Given the description of an element on the screen output the (x, y) to click on. 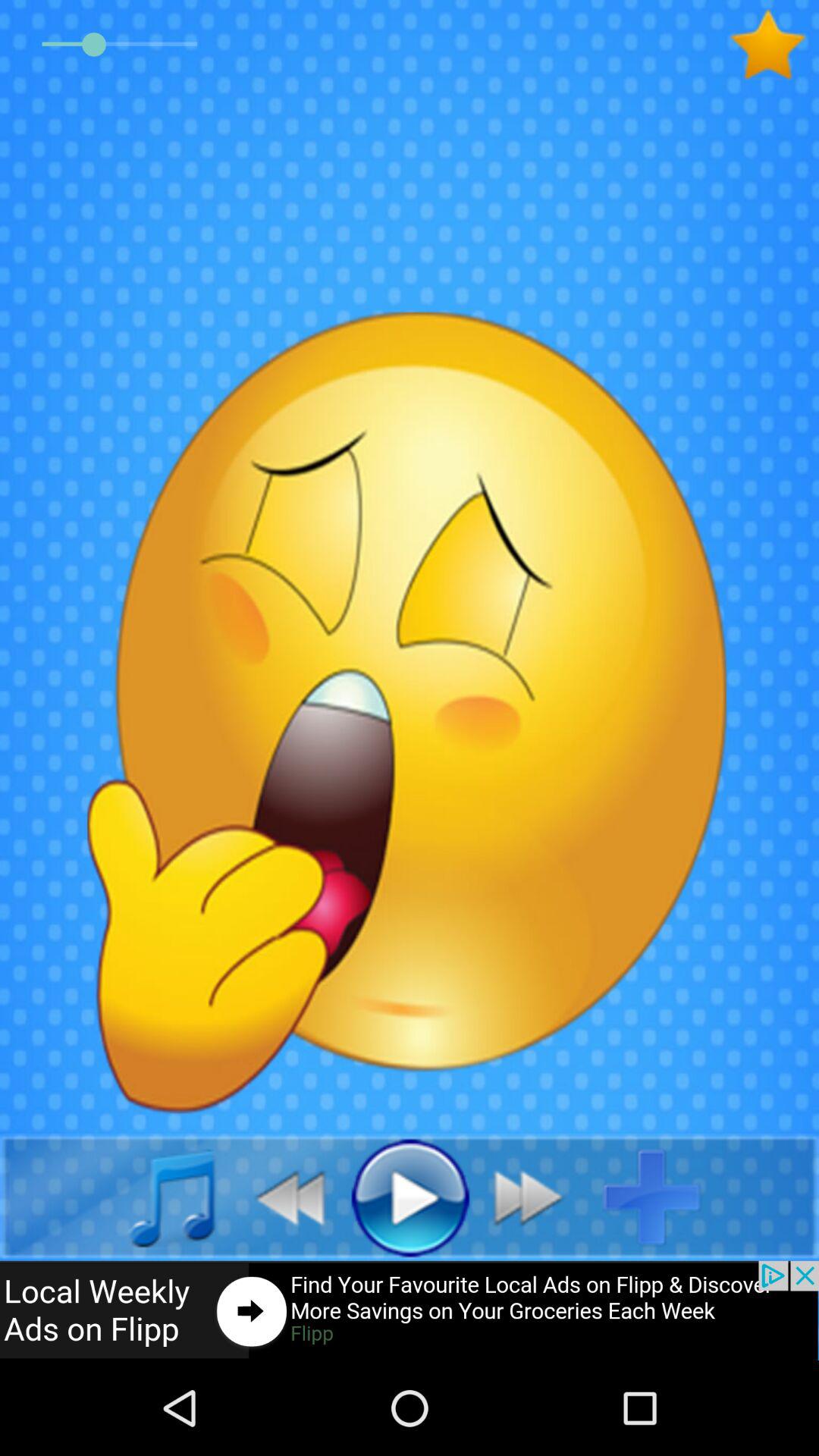
play media (409, 1196)
